Given the description of an element on the screen output the (x, y) to click on. 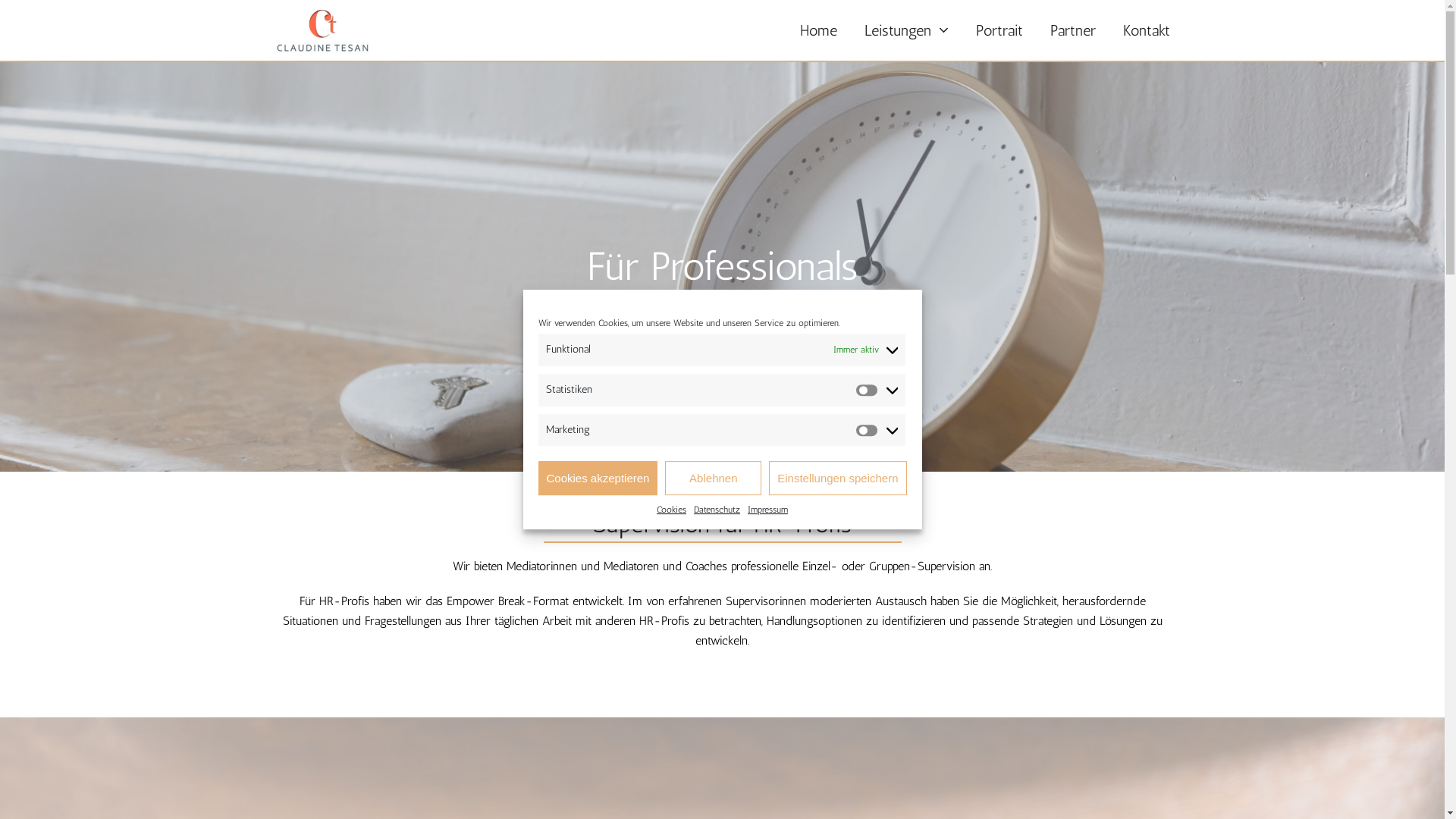
Portrait Element type: text (998, 30)
Datenschutz Element type: text (716, 509)
Home Element type: text (817, 30)
Kontakt Element type: text (1145, 30)
Partner Element type: text (1072, 30)
Impressum Element type: text (767, 509)
Einstellungen speichern Element type: text (837, 478)
Leistungen Element type: text (906, 30)
Cookies akzeptieren Element type: text (598, 478)
Cookies Element type: text (671, 509)
Ablehnen Element type: text (713, 478)
